Given the description of an element on the screen output the (x, y) to click on. 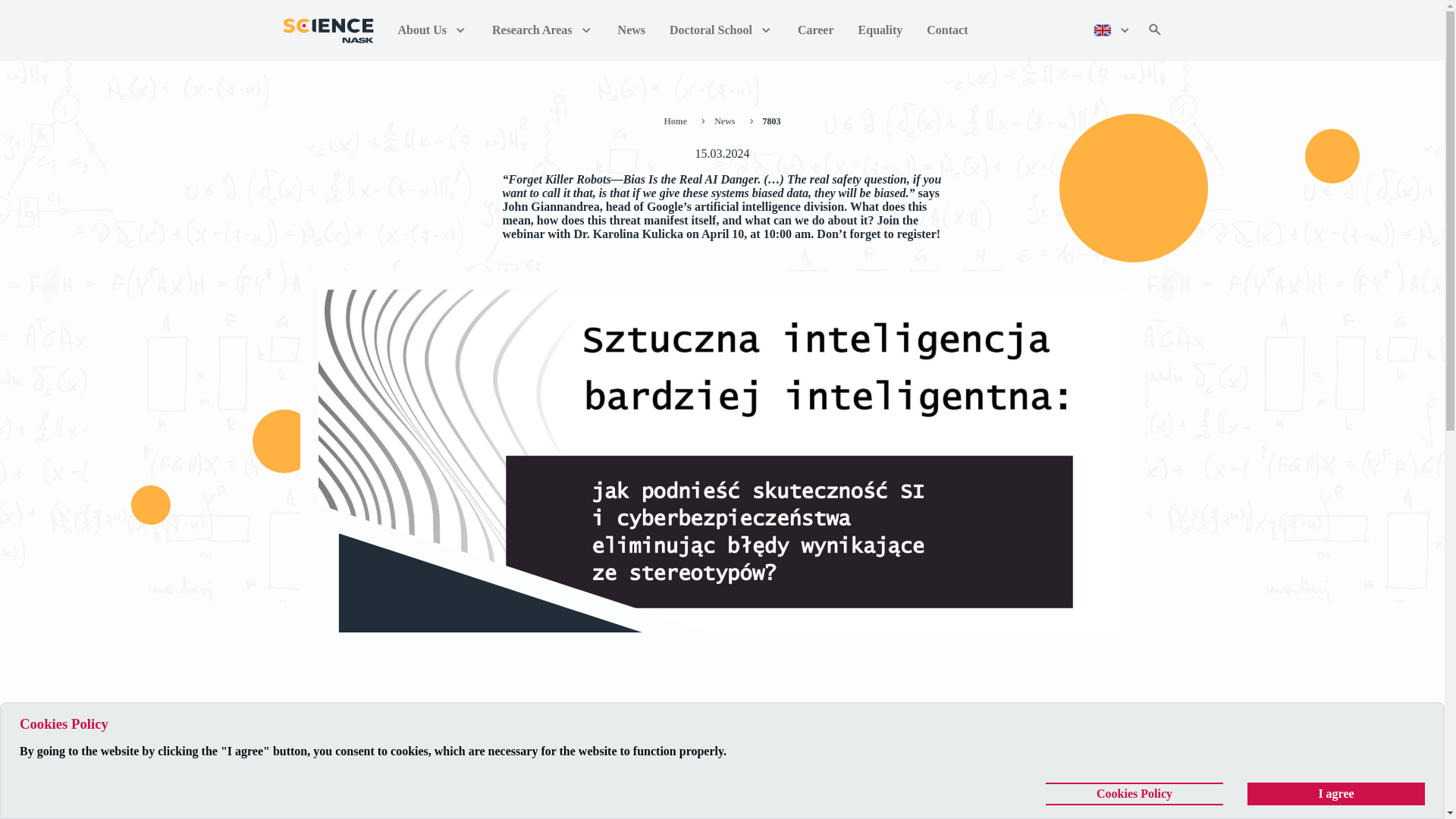
Equality (880, 30)
News (727, 120)
Research Areas (543, 30)
Doctoral School (721, 30)
Cookies Policy (1134, 793)
Career (815, 30)
Contact (947, 30)
About Us (432, 30)
News (631, 30)
Home (678, 120)
I agree (1336, 793)
